Given the description of an element on the screen output the (x, y) to click on. 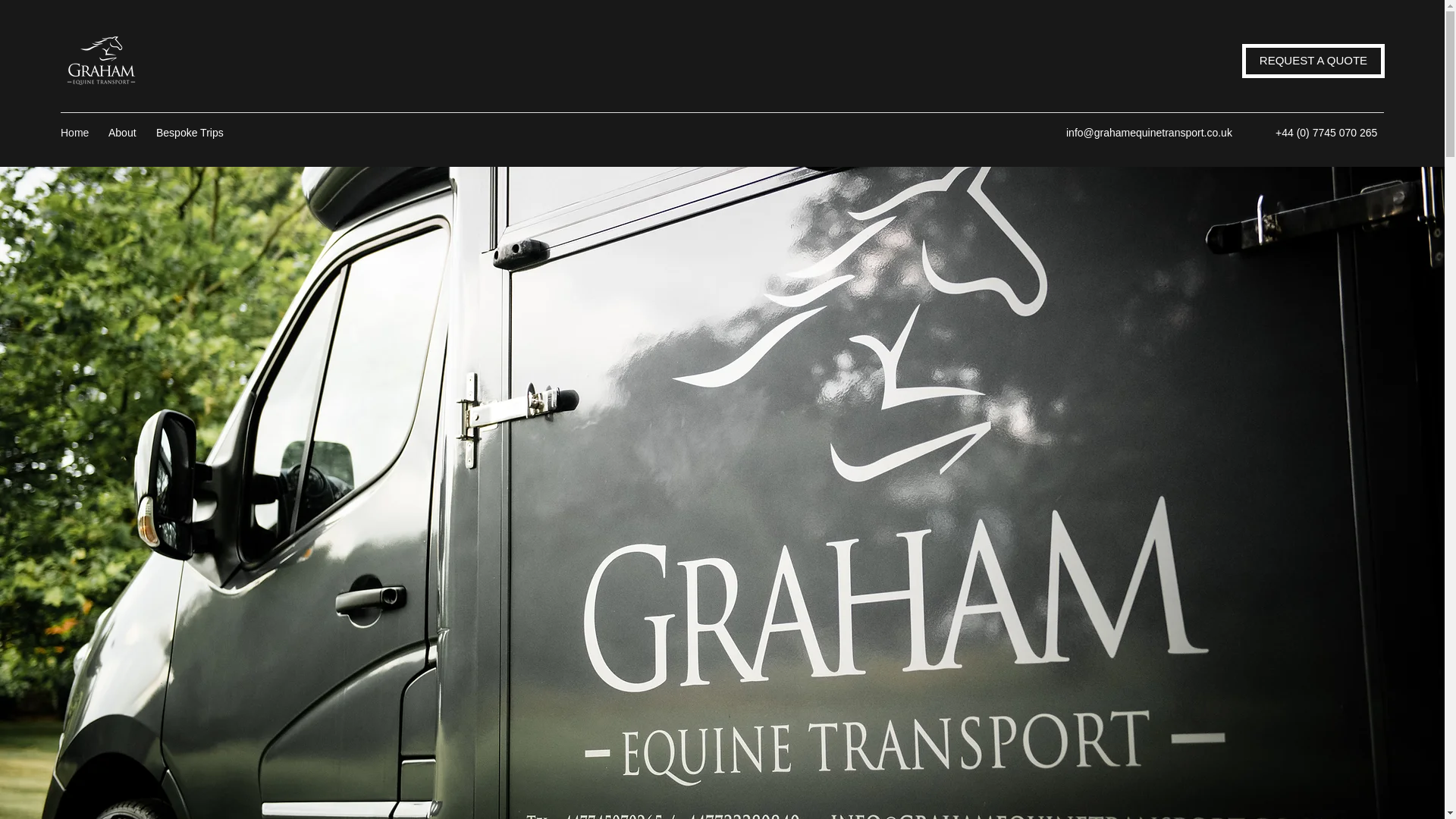
REQUEST A QUOTE (1312, 60)
Home (76, 132)
Bespoke Trips (193, 132)
About (124, 132)
